Given the description of an element on the screen output the (x, y) to click on. 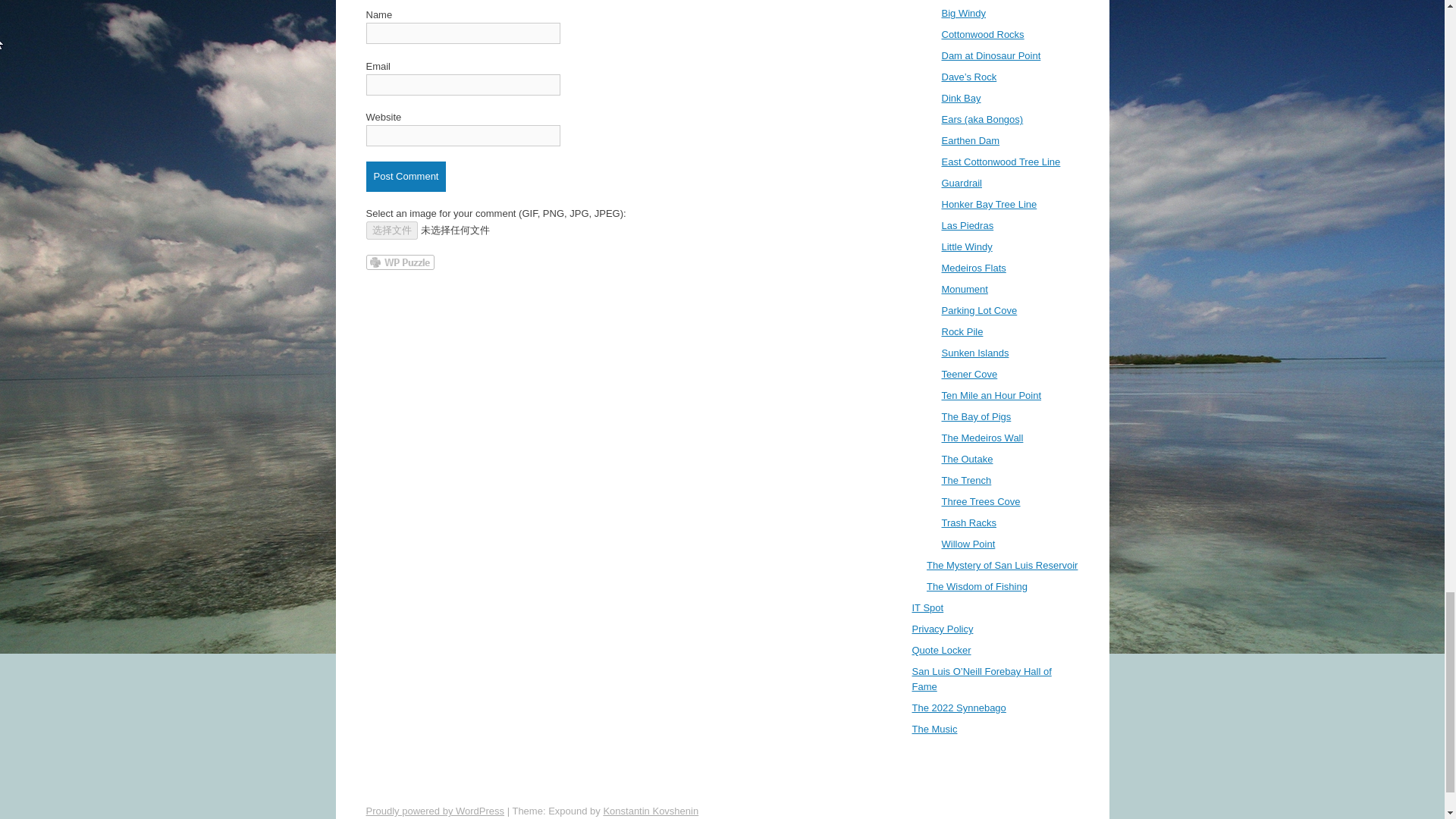
Post Comment (405, 176)
